Given the description of an element on the screen output the (x, y) to click on. 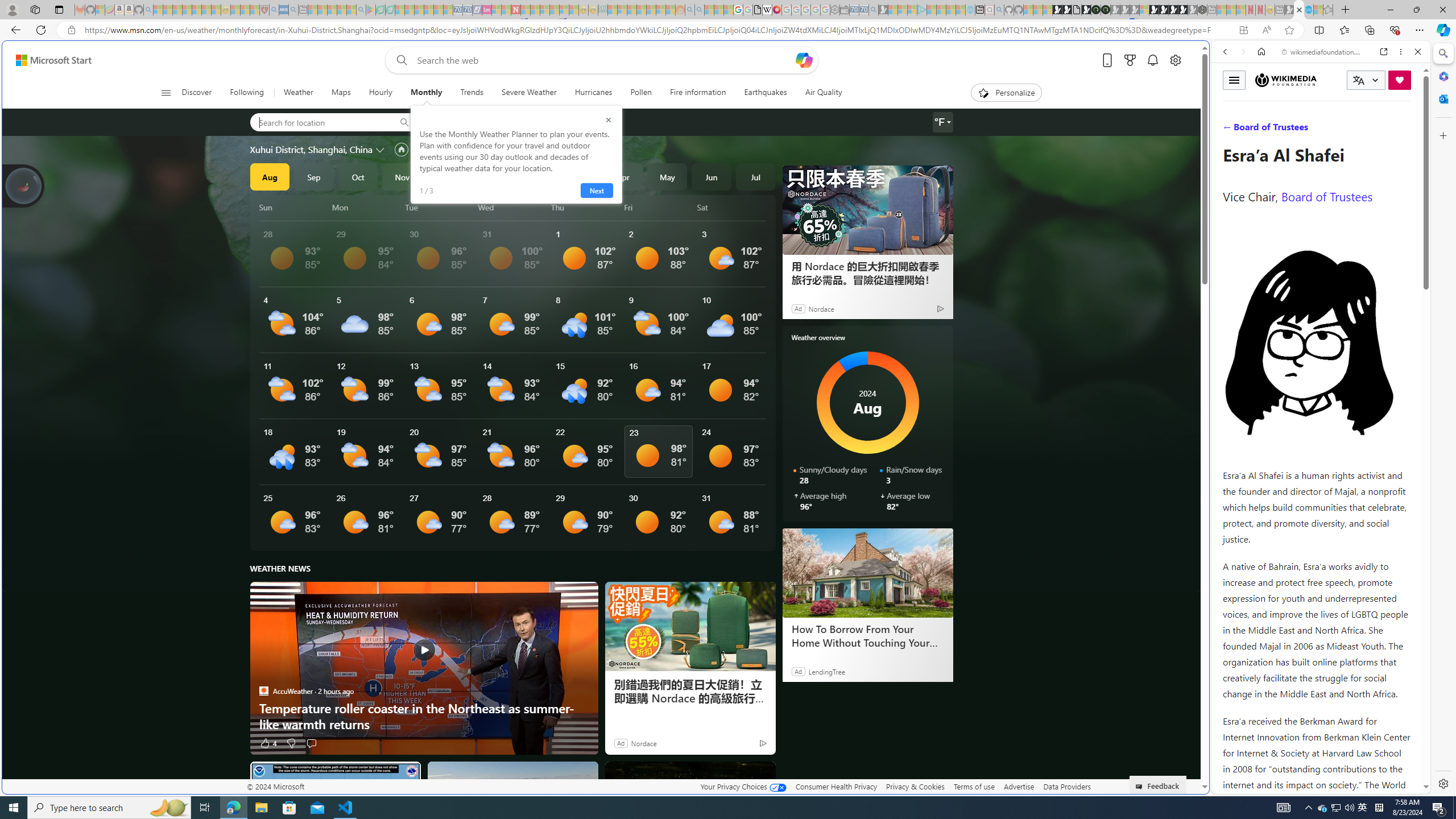
This site scope (1259, 102)
Recipes - MSN - Sleeping (234, 9)
wikimediafoundation.org (1323, 51)
VIDEOS (1300, 130)
Terms of use (973, 786)
Pollen (641, 92)
Trends (471, 92)
MSN - Sleeping (1288, 9)
